Given the description of an element on the screen output the (x, y) to click on. 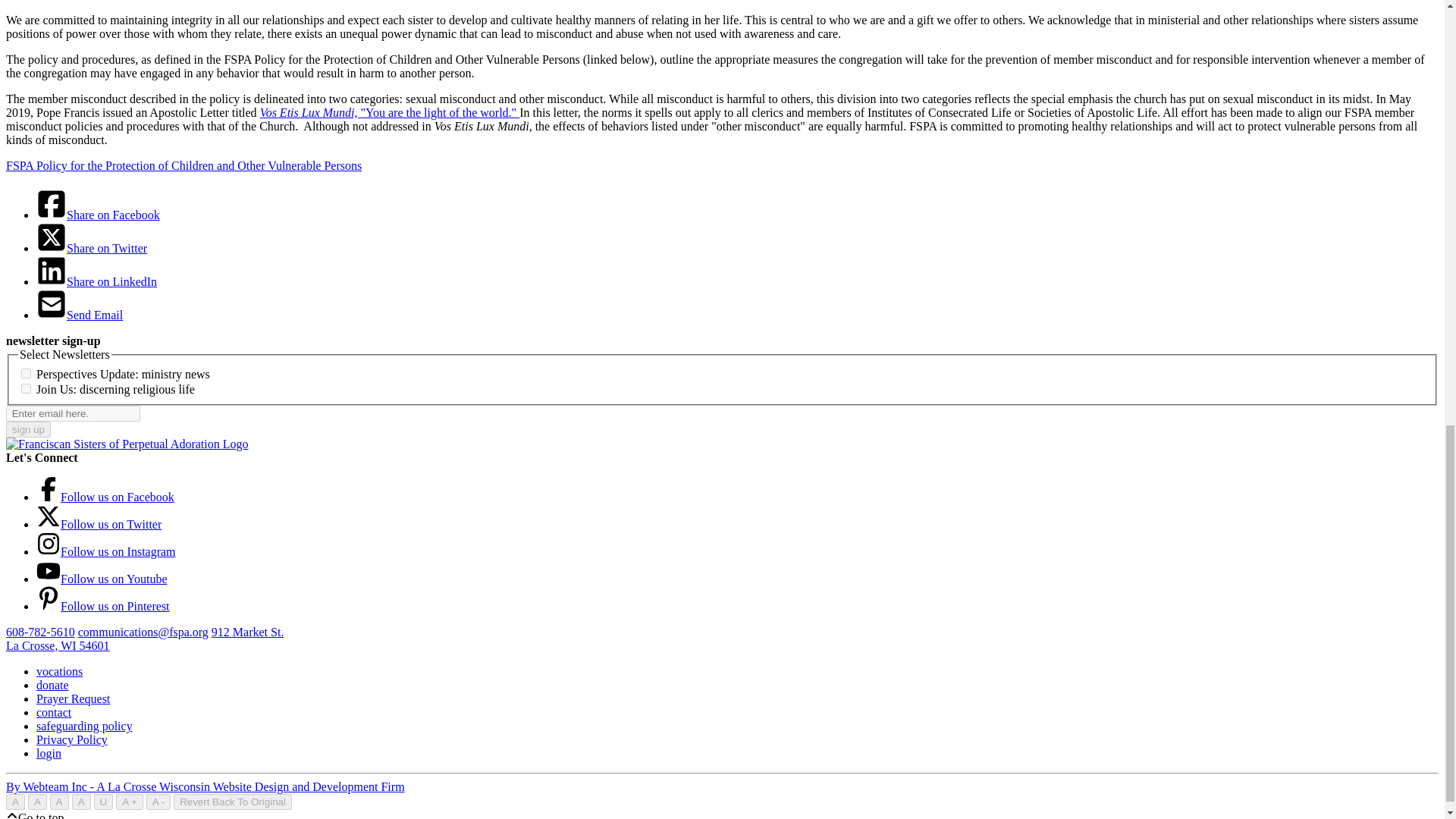
Follow us on Twitter (48, 523)
Change the color of the page to black on white (36, 801)
Follow us on Pinterest (48, 605)
sign up (27, 429)
Send Email (51, 314)
Change the color of the page to white on red (80, 801)
2061341831 (25, 373)
Underline ALL links on page (103, 801)
Change the color of the page to yellow on black (58, 801)
Change the color of the page to white on black (14, 801)
Decrease Font Size (158, 801)
Share on Facebook (51, 214)
Increase Font Size (129, 801)
Share on Twitter (51, 247)
Follow us on Youtube (48, 578)
